Given the description of an element on the screen output the (x, y) to click on. 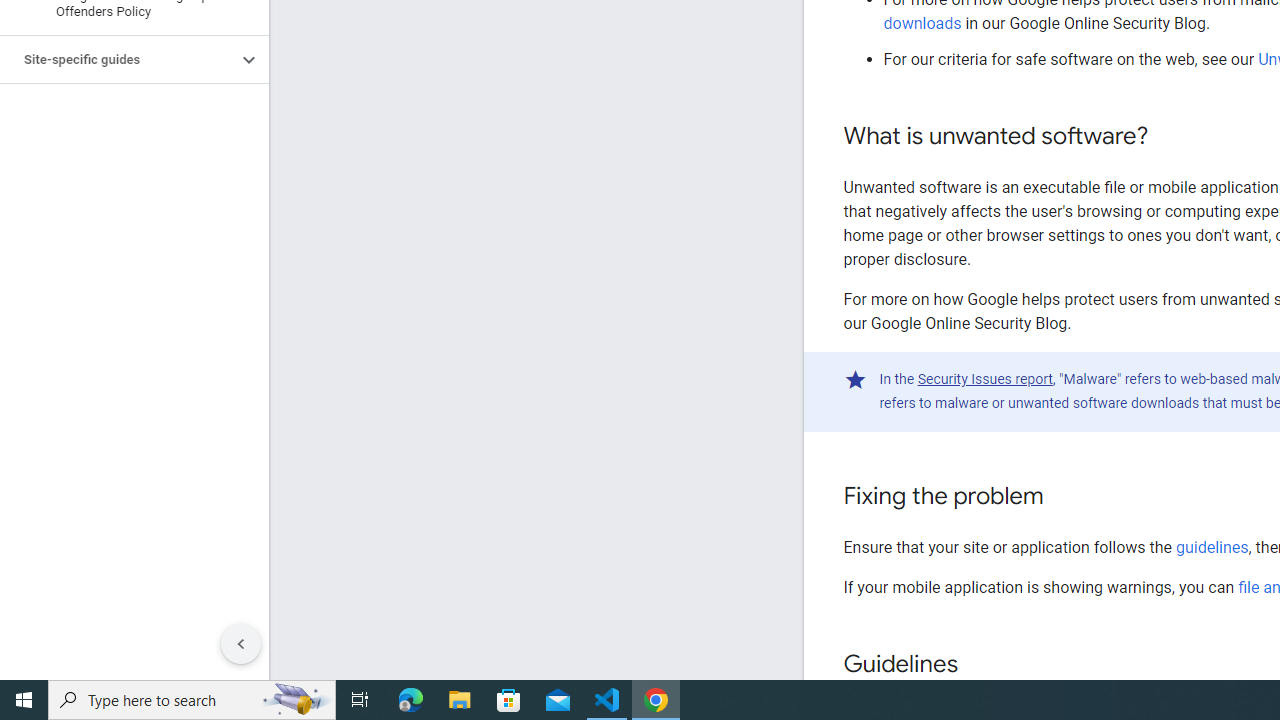
Security Issues report (984, 379)
Copy link to this section: Fixing the problem (1063, 497)
Site-specific guides (118, 60)
Copy link to this section: What is unwanted software? (1168, 137)
Copy link to this section: Guidelines (977, 665)
guidelines (1212, 547)
Hide side navigation (241, 643)
